Given the description of an element on the screen output the (x, y) to click on. 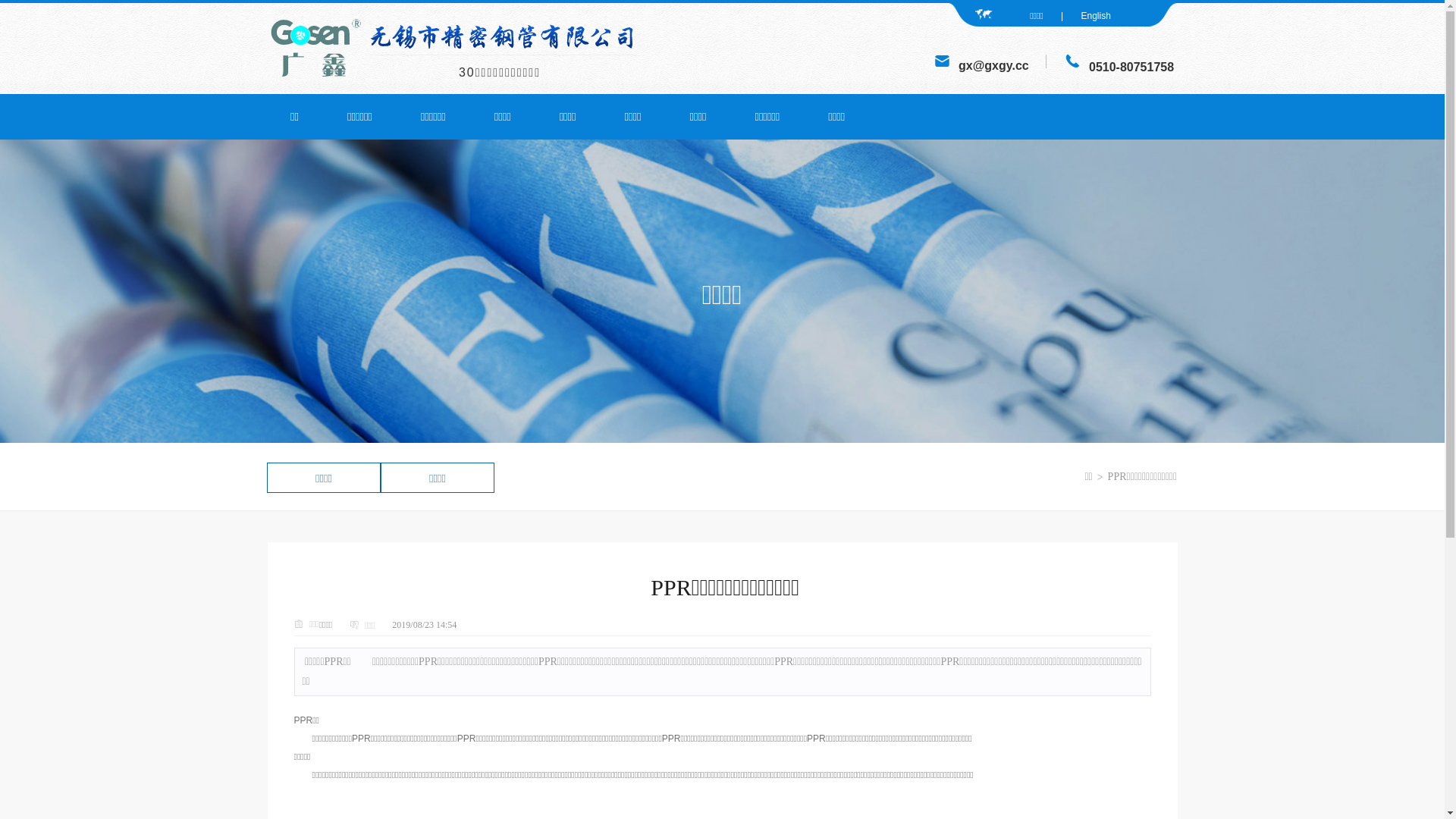
JM Element type: hover (1071, 60)
JM Element type: hover (508, 36)
gx@gxgy.cc Element type: text (993, 66)
English Element type: text (1095, 15)
JM Element type: hover (941, 60)
JM Element type: hover (314, 48)
